Given the description of an element on the screen output the (x, y) to click on. 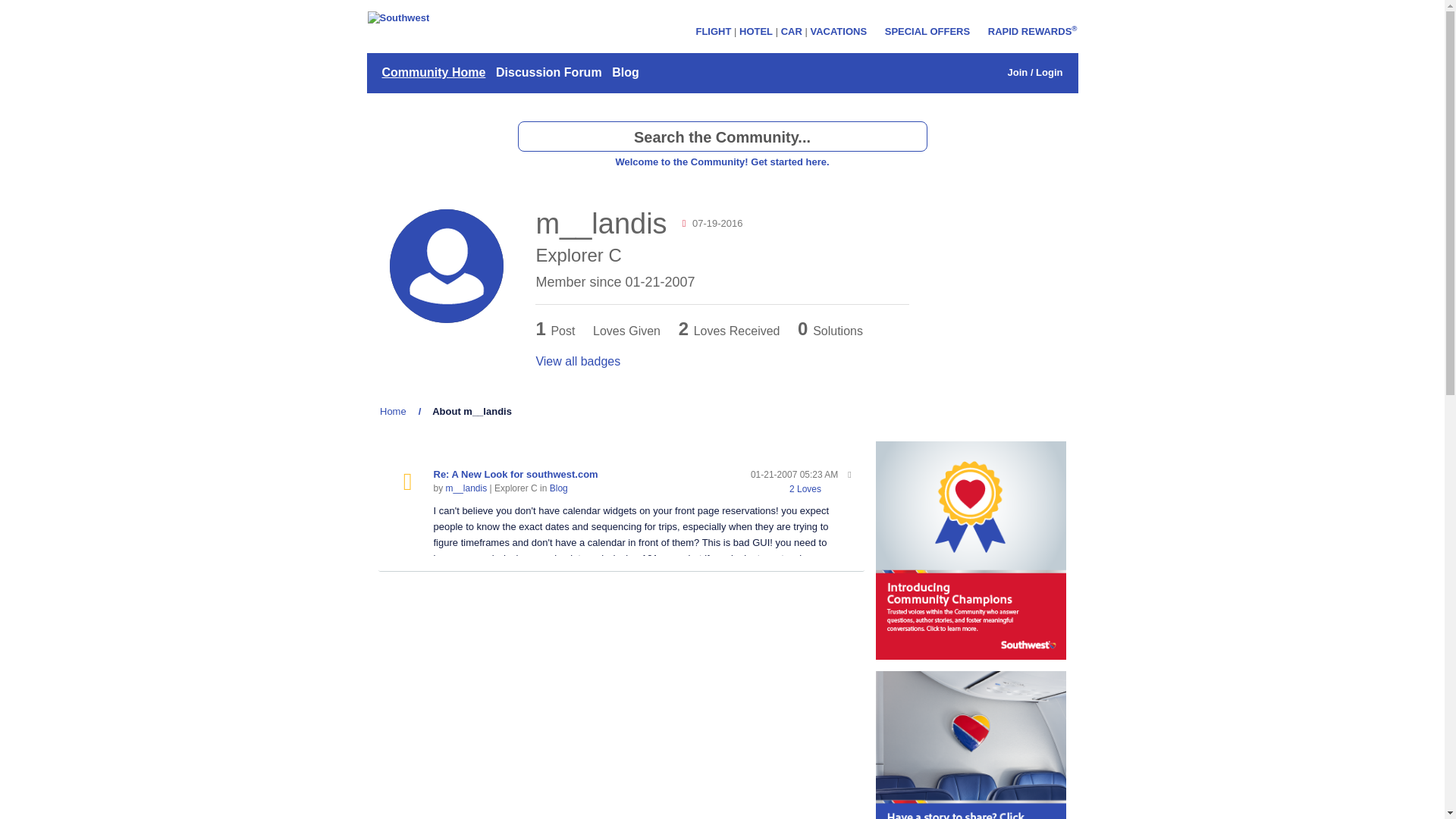
Blog (558, 488)
HOTEL (756, 30)
Search (911, 136)
FLIGHT (712, 30)
Search (721, 136)
Search (911, 136)
SPECIAL OFFERS (927, 30)
Posted on (794, 474)
View all badges (577, 360)
Discussion Forum (548, 73)
VACATIONS (837, 30)
Welcome to the Community! Get started here. (721, 161)
Re: A New Look for southwest.com (515, 473)
CAR (791, 30)
Search (911, 136)
